Given the description of an element on the screen output the (x, y) to click on. 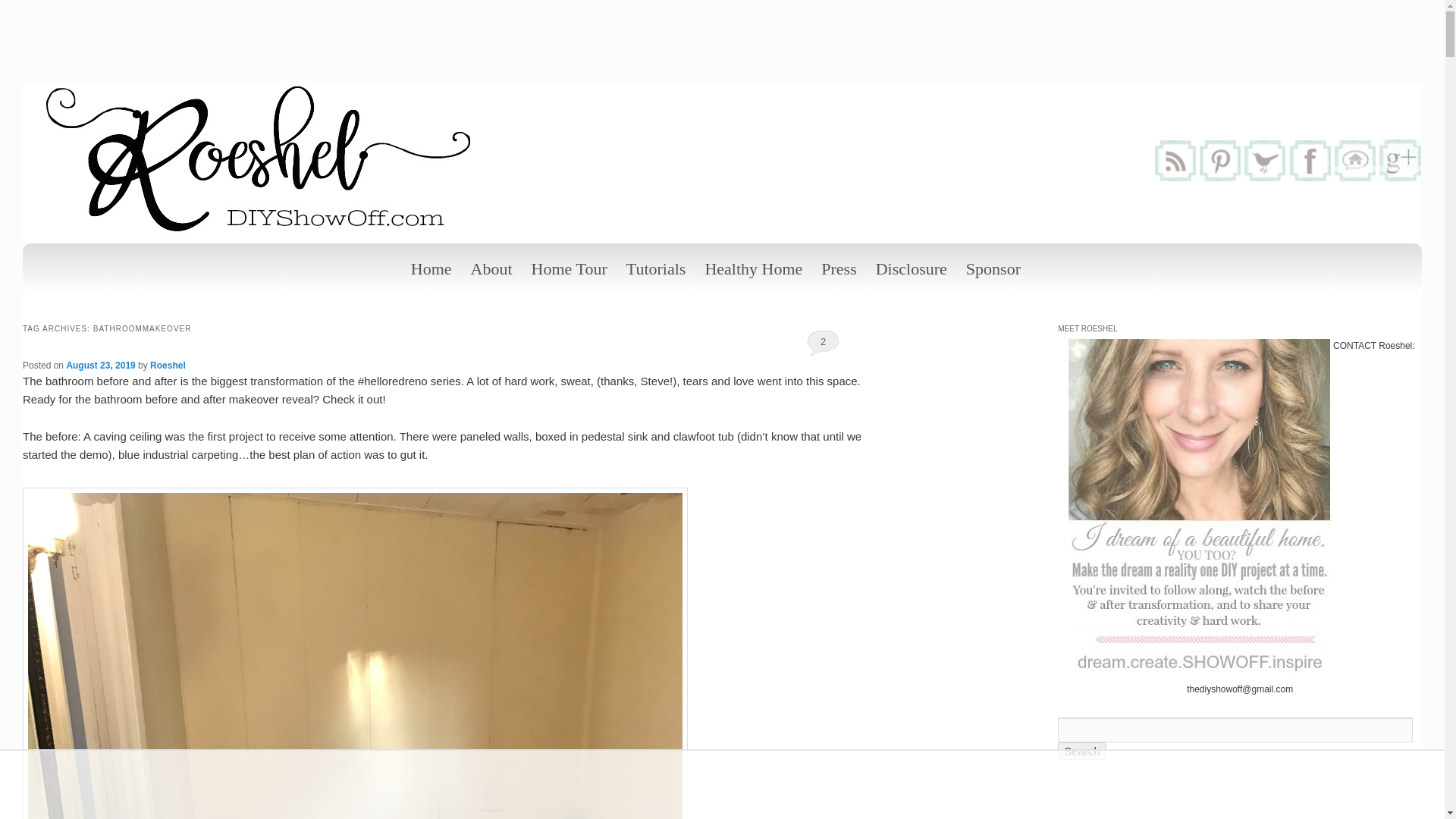
View all posts by Roeshel (167, 365)
Search (1082, 751)
Home Tour (569, 268)
9:00 am (100, 365)
About (491, 268)
Press (838, 268)
Healthy Home (753, 268)
Disclosure (911, 268)
Sponsor (992, 268)
Tutorials (656, 268)
Home (431, 268)
